Given the description of an element on the screen output the (x, y) to click on. 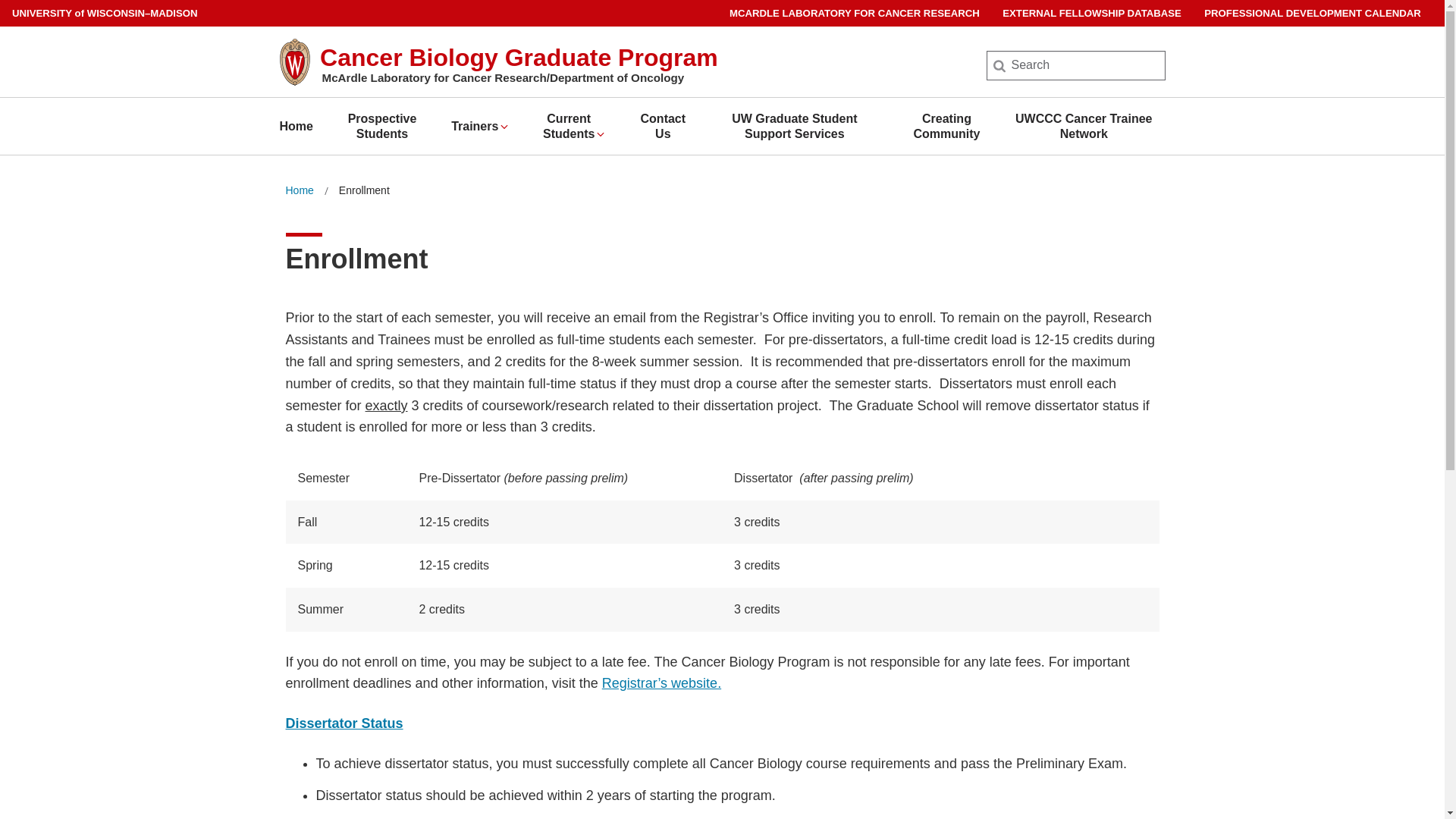
UW Graduate Student Support Services (794, 125)
MCARDLE LABORATORY FOR CANCER RESEARCH (854, 13)
EXTERNAL FELLOWSHIP DATABASE (1091, 13)
Cancer Biology Graduate Program (518, 57)
PROFESSIONAL DEVELOPMENT CALENDAR (1312, 13)
Home (299, 190)
Prospective Students (382, 125)
Enrollment (364, 190)
Dissertator Status (344, 723)
Current Students Expand (574, 125)
Creating Community (946, 125)
Contact Us (663, 125)
Skip to main content (3, 3)
Expand (600, 133)
Trainers Expand (481, 126)
